Given the description of an element on the screen output the (x, y) to click on. 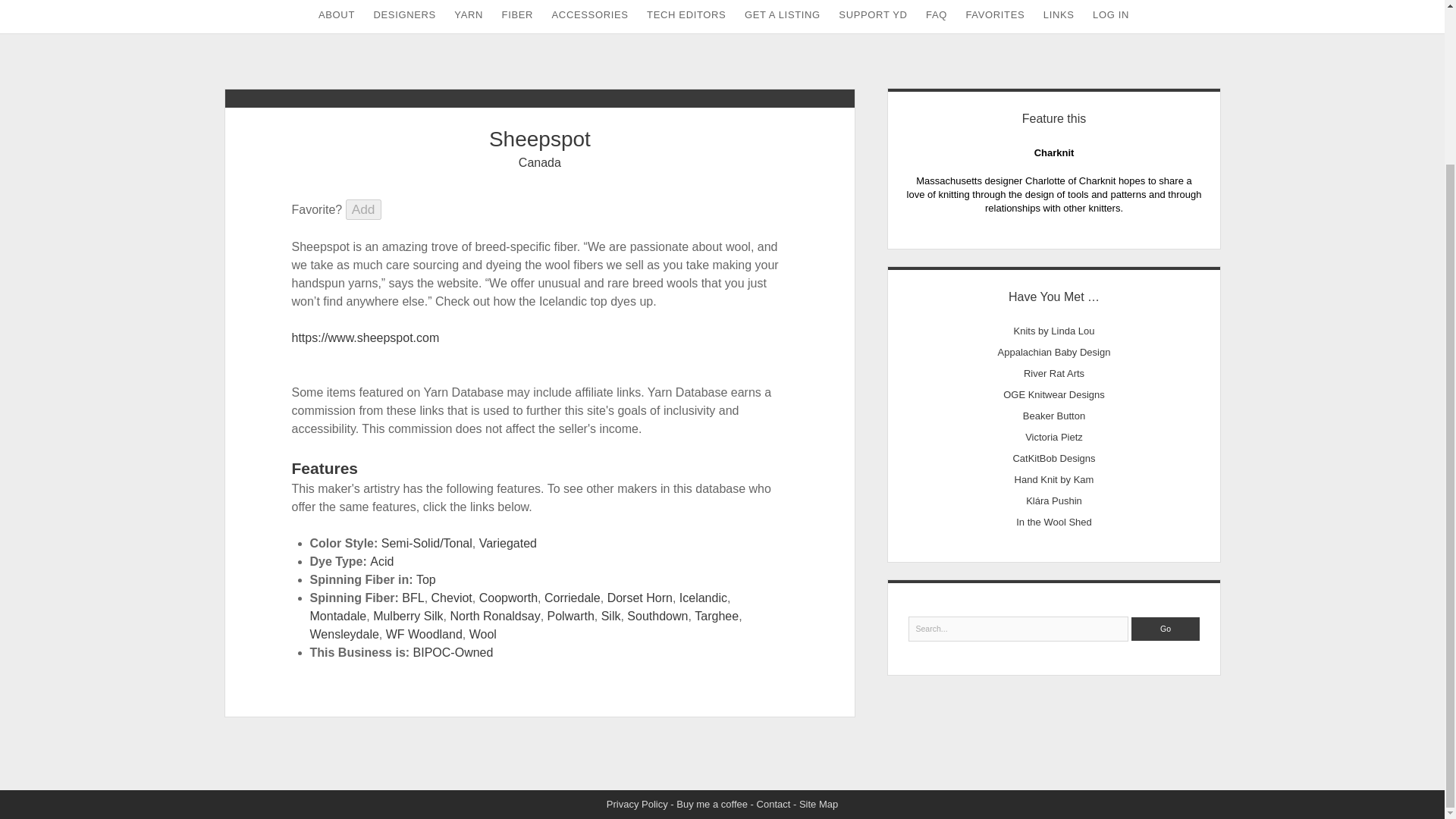
TECH EDITORS (686, 16)
North Ronaldsay (494, 615)
Targhee (716, 615)
Add (363, 209)
Go (1165, 629)
Corriedale (571, 597)
Cheviot (450, 597)
Polwarth (570, 615)
Icelandic (702, 597)
FIBER (518, 16)
